Given the description of an element on the screen output the (x, y) to click on. 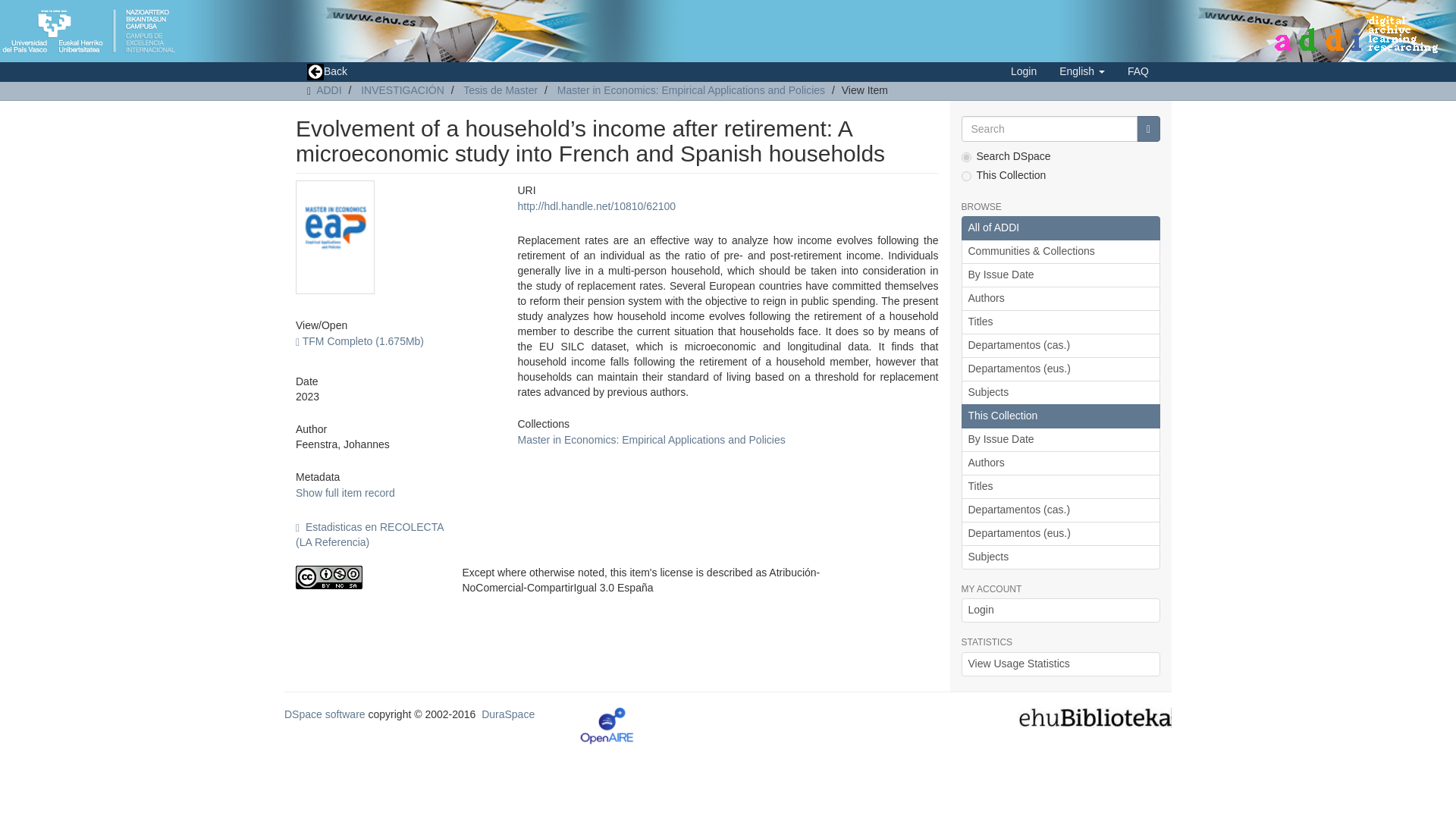
English  (1082, 71)
Master in Economics: Empirical Applications and Policies (691, 90)
Show full item record (344, 492)
Go (1148, 128)
Master in Economics: Empirical Applications and Policies (650, 439)
All of ADDI (1060, 228)
Tesis de Master (500, 90)
EHU Biblioteka (1094, 716)
Login (1023, 71)
Back (326, 71)
